Given the description of an element on the screen output the (x, y) to click on. 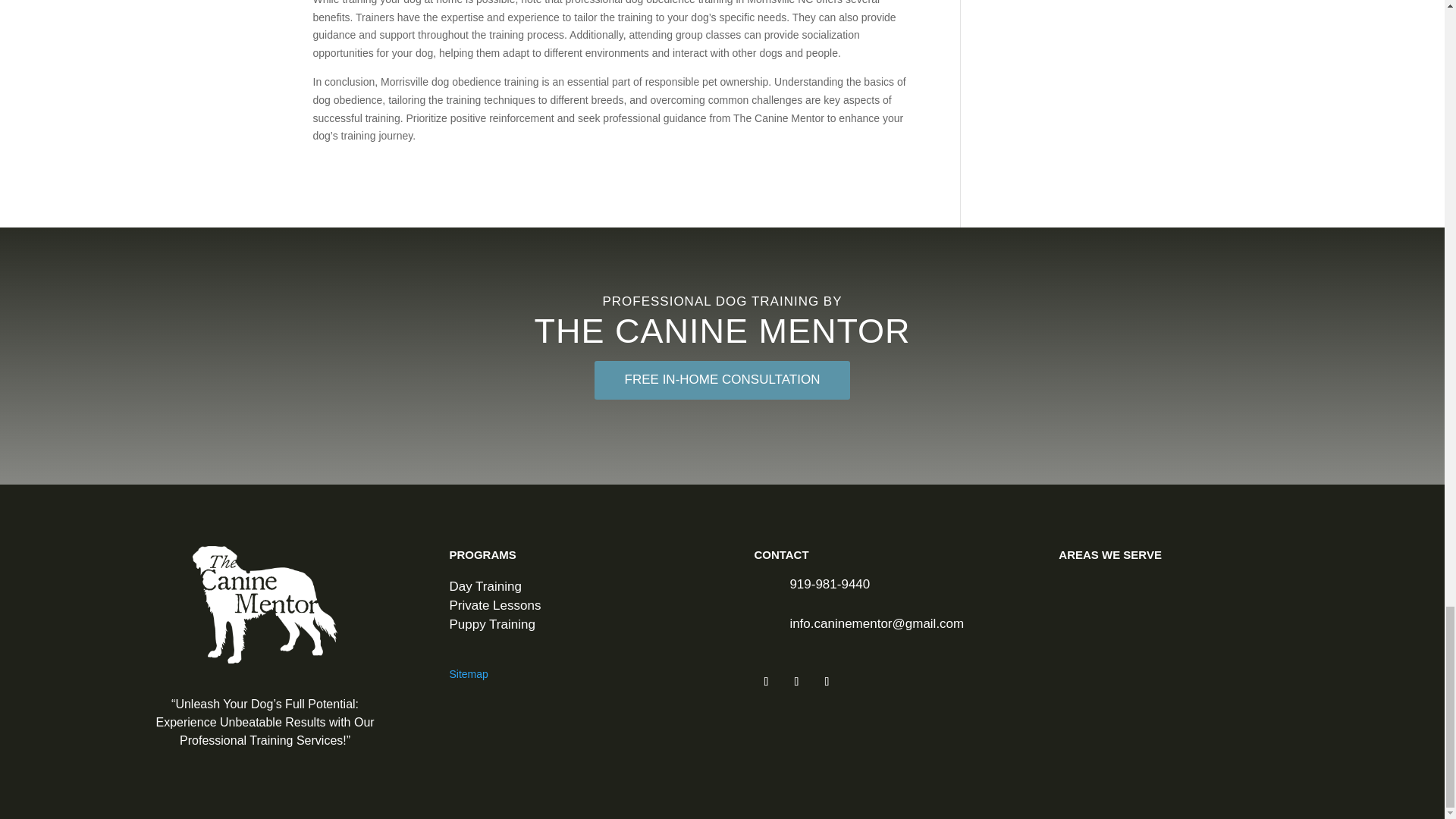
Follow on Instagram (796, 681)
Follow on LinkedIn (825, 681)
Follow on Facebook (765, 681)
